Given the description of an element on the screen output the (x, y) to click on. 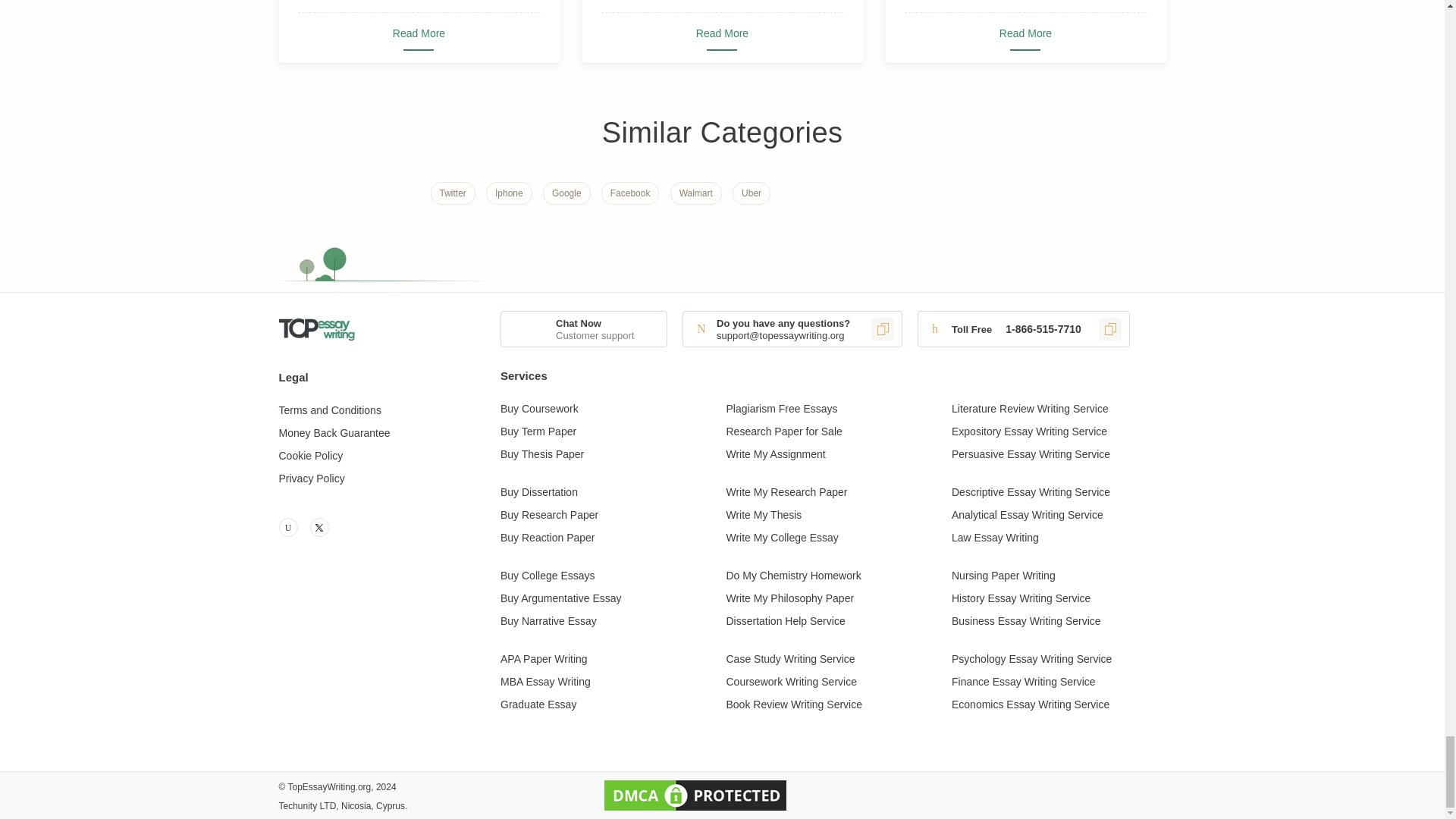
DMCA.com Protection Status (694, 795)
Copied to clipboard (881, 328)
Copied to clipboard (1110, 328)
